Given the description of an element on the screen output the (x, y) to click on. 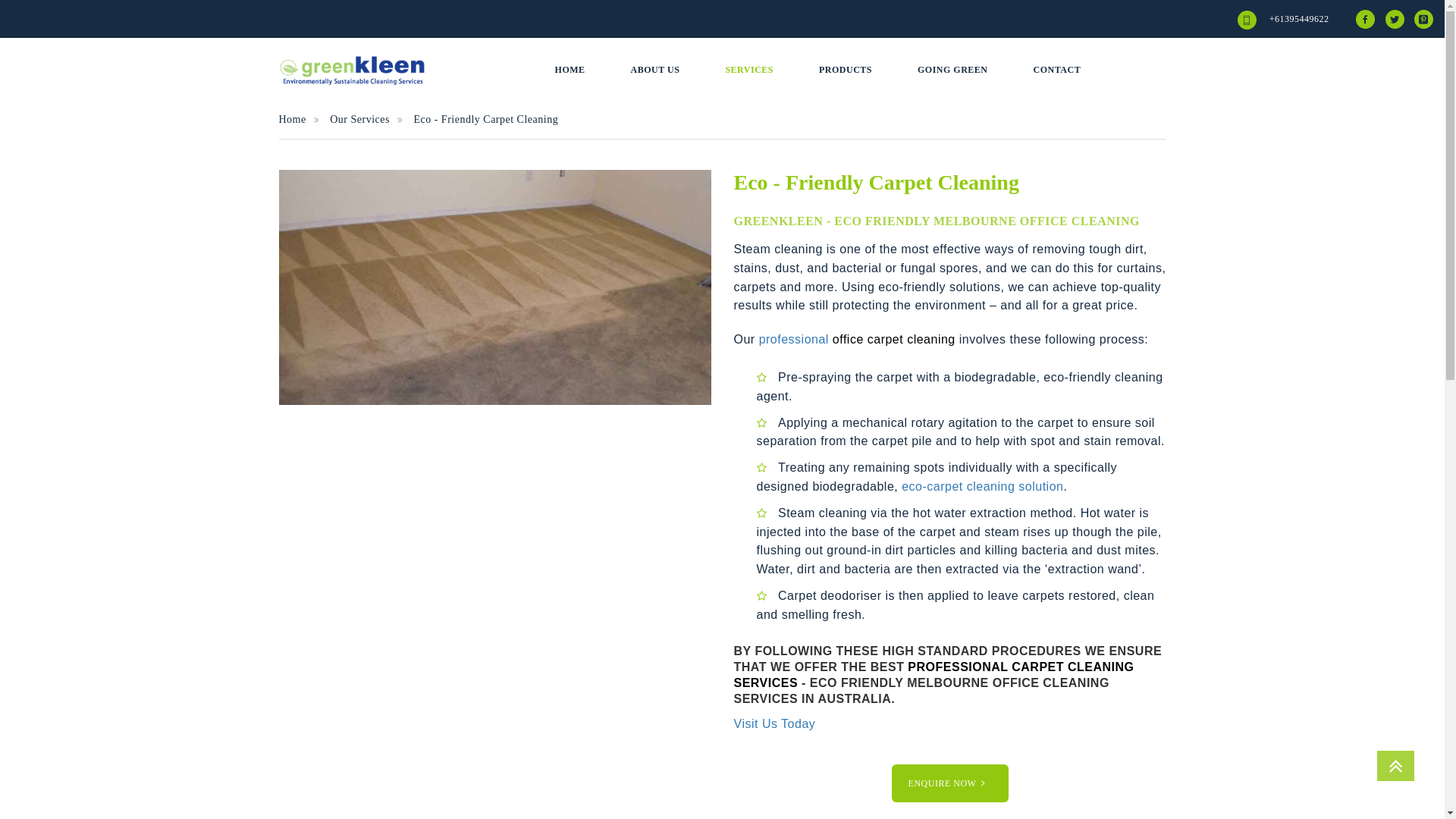
professional office carpet cleaning Element type: text (857, 338)
GOING GREEN Element type: text (952, 70)
ABOUT US Element type: text (655, 70)
  +61395449622    Element type: text (1300, 18)
Visit Us Today Element type: text (774, 723)
ENQUIRE NOW Element type: text (949, 783)
HOME Element type: text (570, 70)
Go To Top Element type: text (1395, 765)
PRODUCTS Element type: text (845, 70)
PROFESSIONAL CARPET CLEANING SERVICES Element type: text (934, 674)
eco-carpet cleaning solution Element type: text (982, 486)
Eco friendly Cleaning Services Melbourne Element type: hover (495, 286)
Our Services Element type: text (369, 119)
SERVICES Element type: text (749, 70)
Home Element type: text (303, 119)
CONTACT Element type: text (1057, 70)
